Given the description of an element on the screen output the (x, y) to click on. 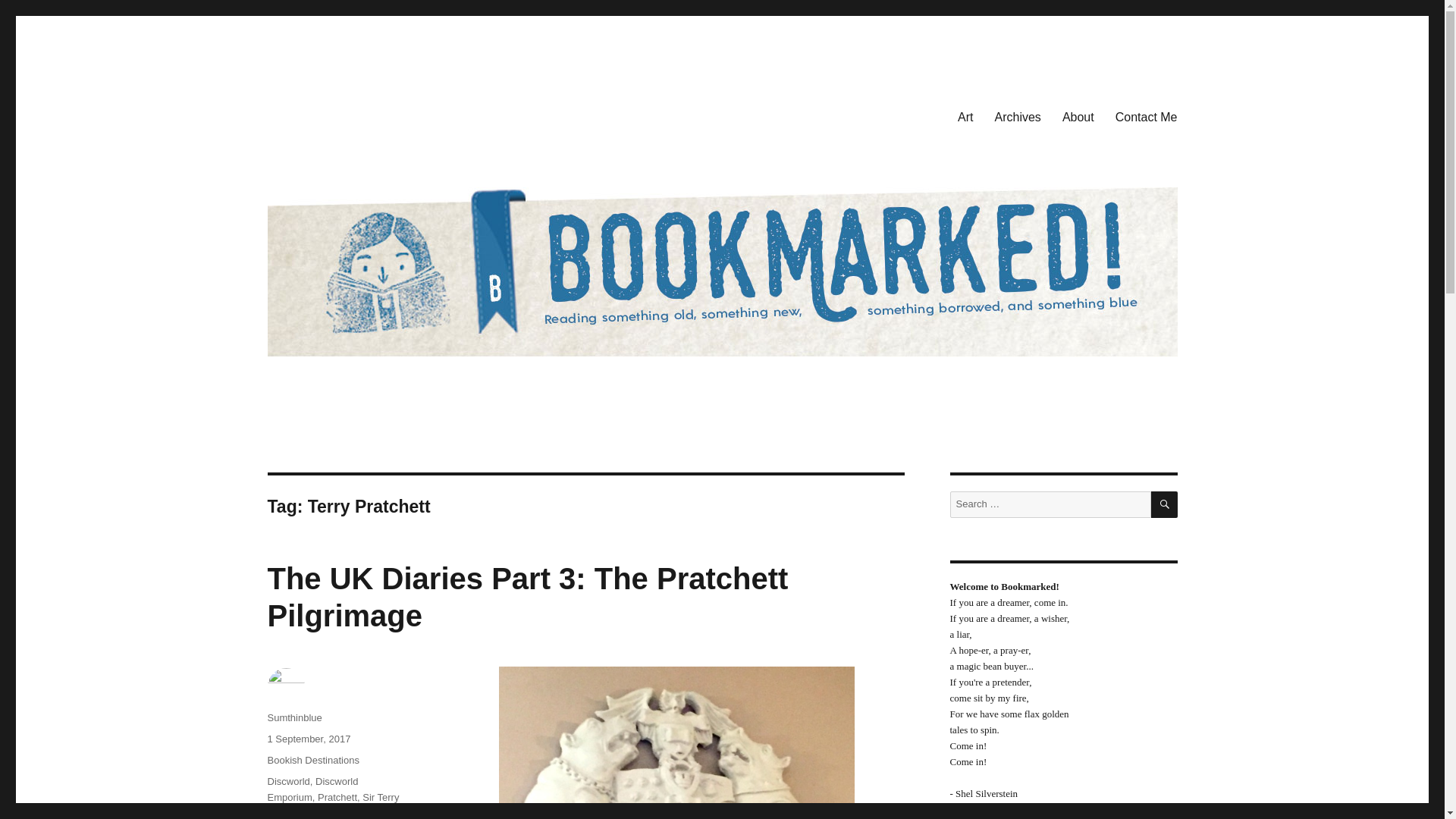
Bookmarked! (334, 114)
The UK Diaries Part 3: The Pratchett Pilgrimage (526, 596)
Sir Terry Pratchett (332, 805)
1 September, 2017 (308, 738)
Sumthinblue (293, 717)
Art (965, 116)
Bookish Destinations (312, 759)
Discworld (287, 781)
Contact Me (1146, 116)
Terry Pratchett (345, 813)
